Given the description of an element on the screen output the (x, y) to click on. 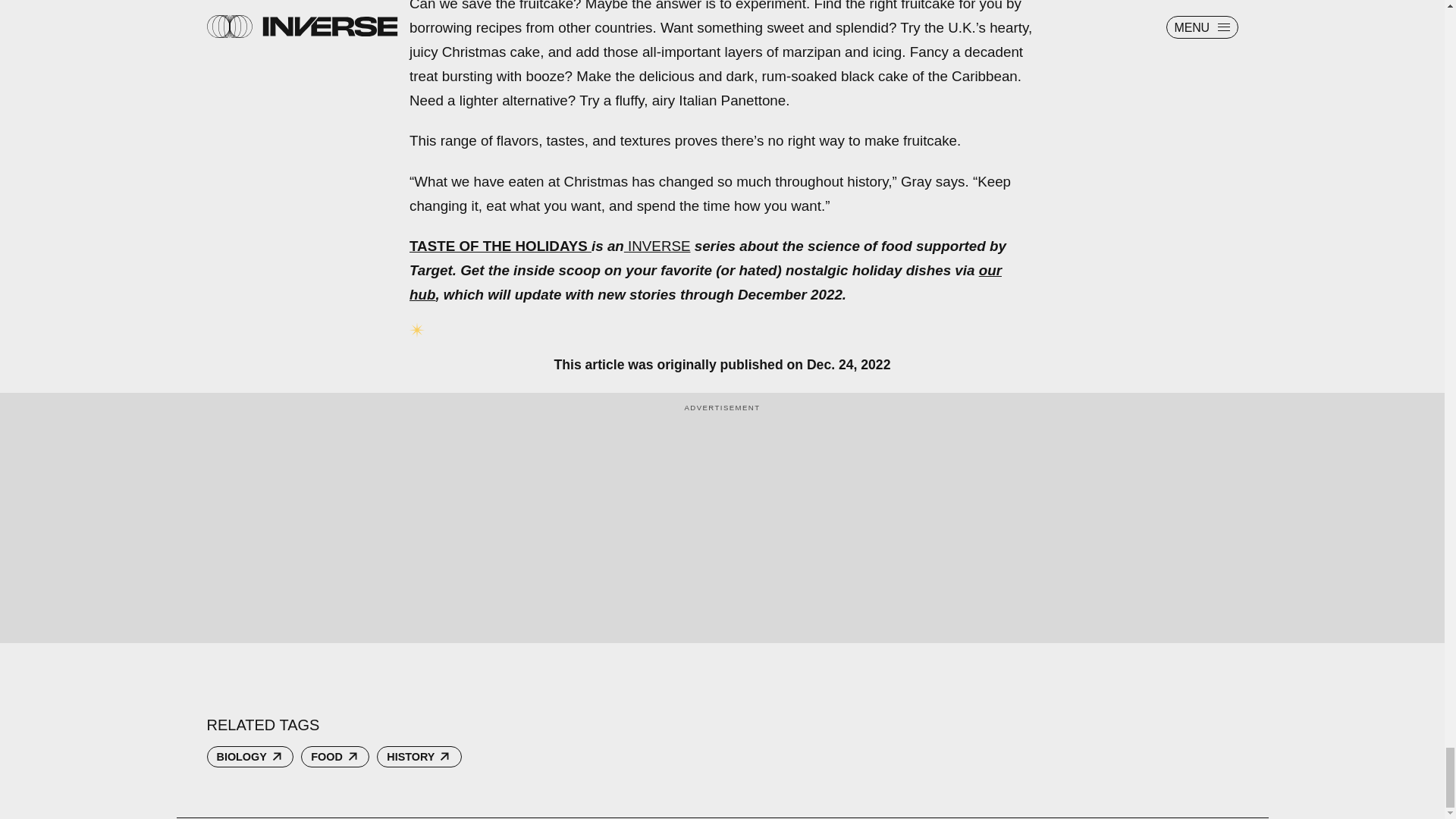
our hub (705, 282)
TASTE OF THE HOLIDAYS (498, 245)
FOOD (335, 756)
BIOLOGY (250, 756)
HISTORY (419, 756)
